Given the description of an element on the screen output the (x, y) to click on. 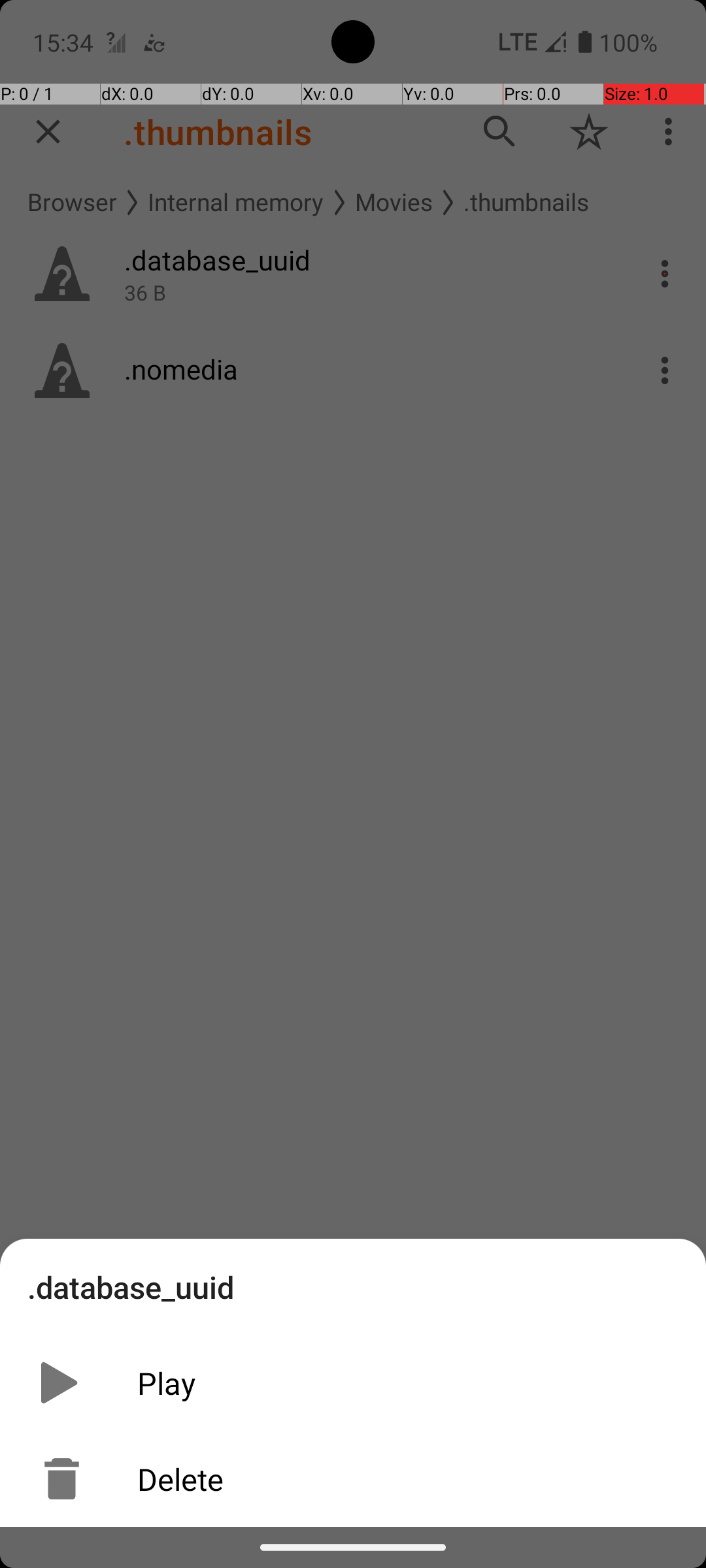
.database_uuid Element type: android.widget.TextView (130, 1286)
